Given the description of an element on the screen output the (x, y) to click on. 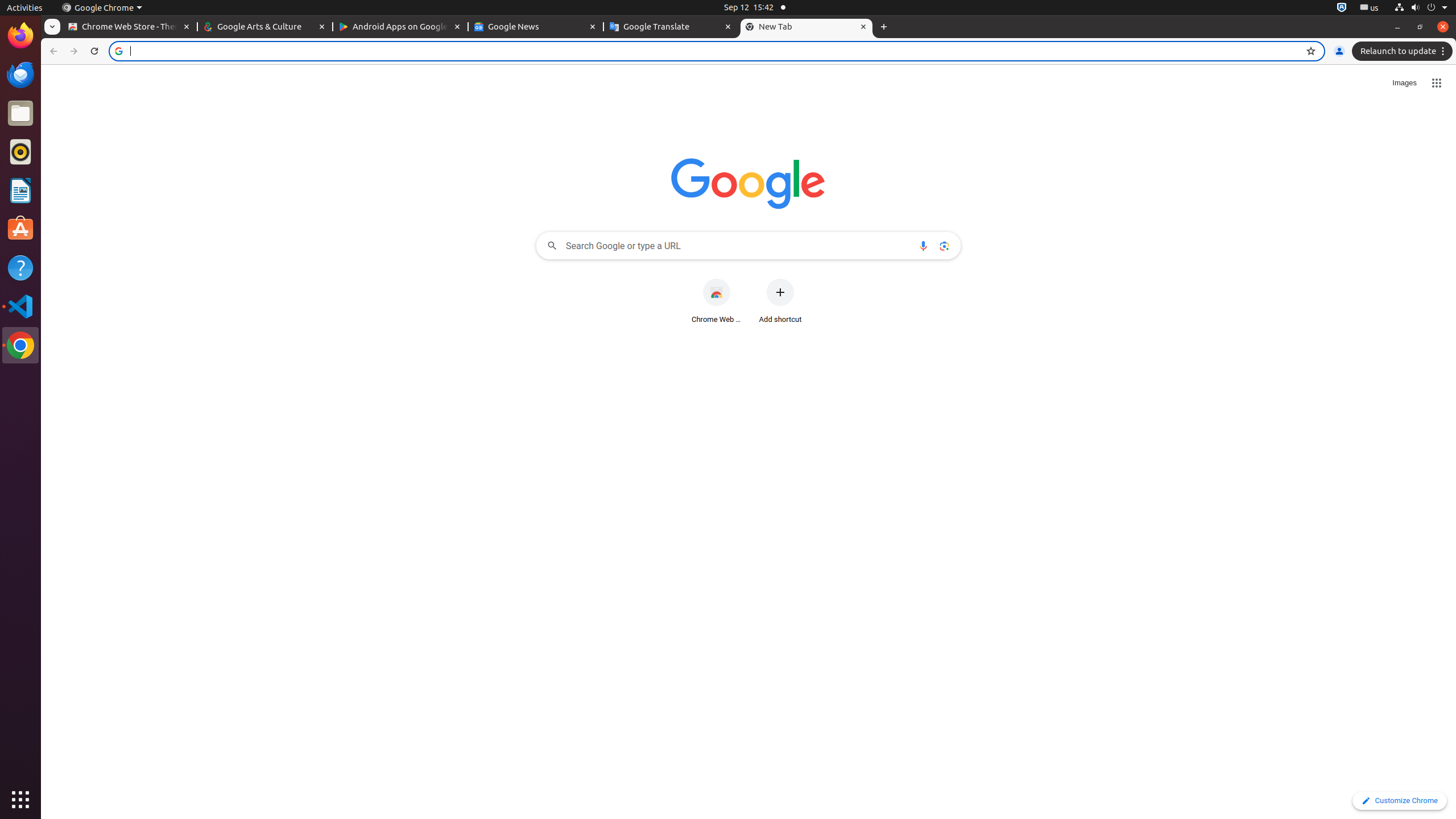
LibreOffice Writer Element type: push-button (20, 190)
Google apps Element type: push-button (1436, 82)
You Element type: push-button (1339, 50)
More actions for Chrome Web Store shortcut Element type: push-button (739, 279)
Customize Chrome Element type: toggle-button (1398, 800)
